Given the description of an element on the screen output the (x, y) to click on. 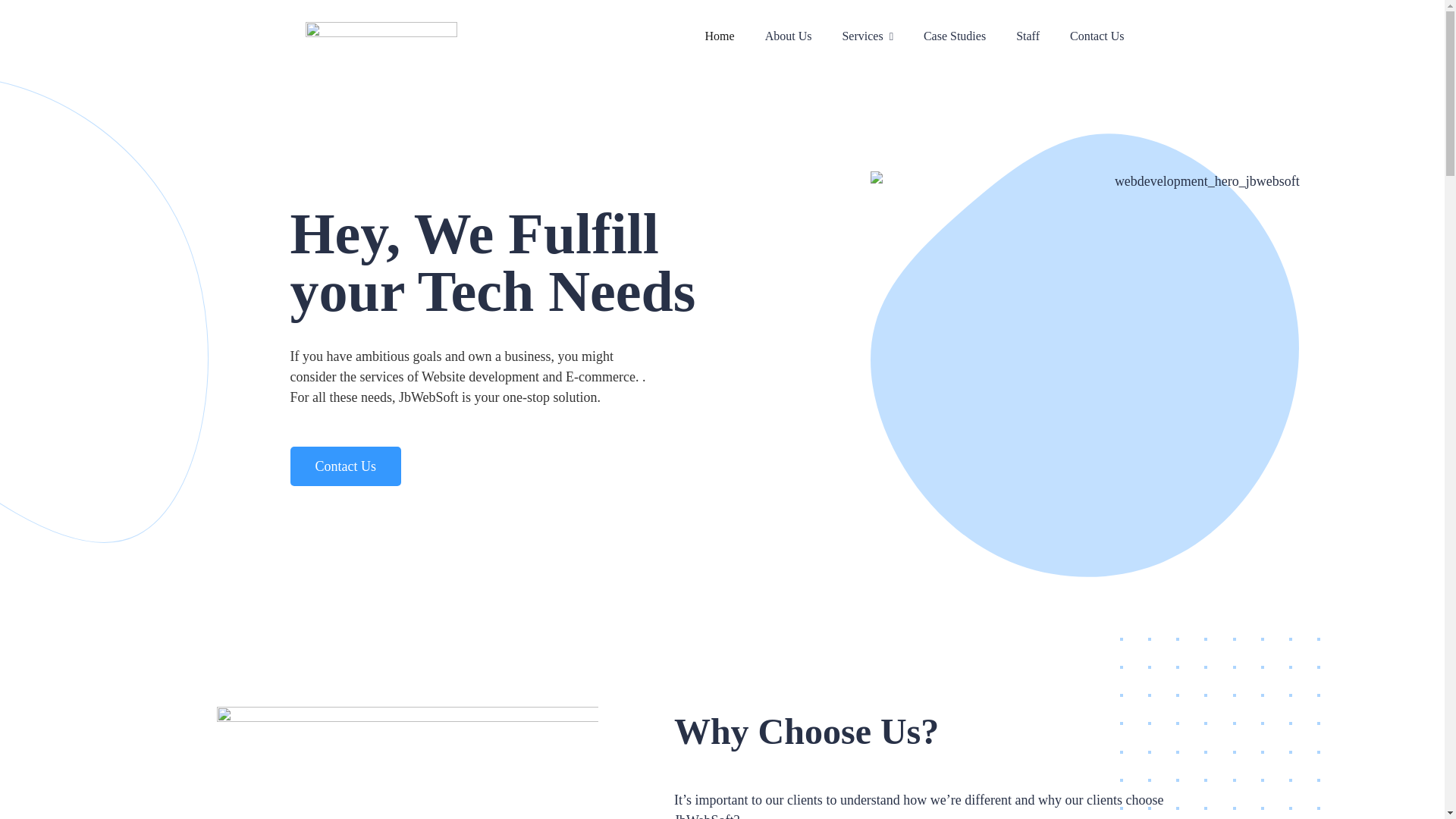
Home (719, 36)
Staff (1027, 36)
Case Studies (954, 36)
Contact Us (1097, 36)
Services (866, 36)
About Us (788, 36)
Contact Us (345, 466)
